Given the description of an element on the screen output the (x, y) to click on. 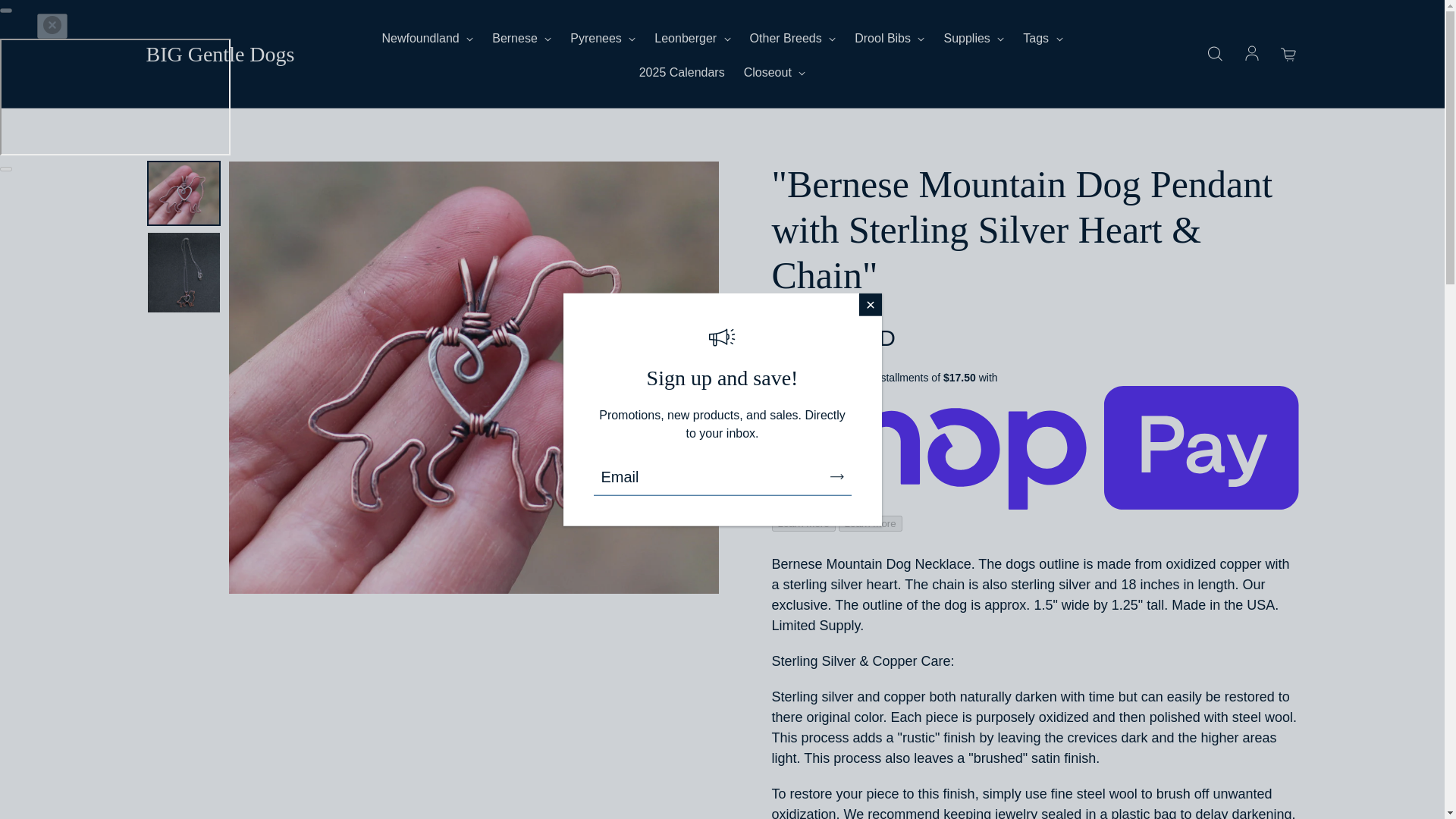
Tags (1042, 38)
Supplies (973, 38)
2025 Calendars (682, 72)
Leonberger (691, 38)
Closeout (775, 72)
Bernese (521, 38)
Log in (1251, 54)
Other Breeds (792, 38)
Pyrenees (602, 38)
Newfoundland (427, 38)
Drool Bibs (889, 38)
BIG Gentle Dogs (219, 54)
